Given the description of an element on the screen output the (x, y) to click on. 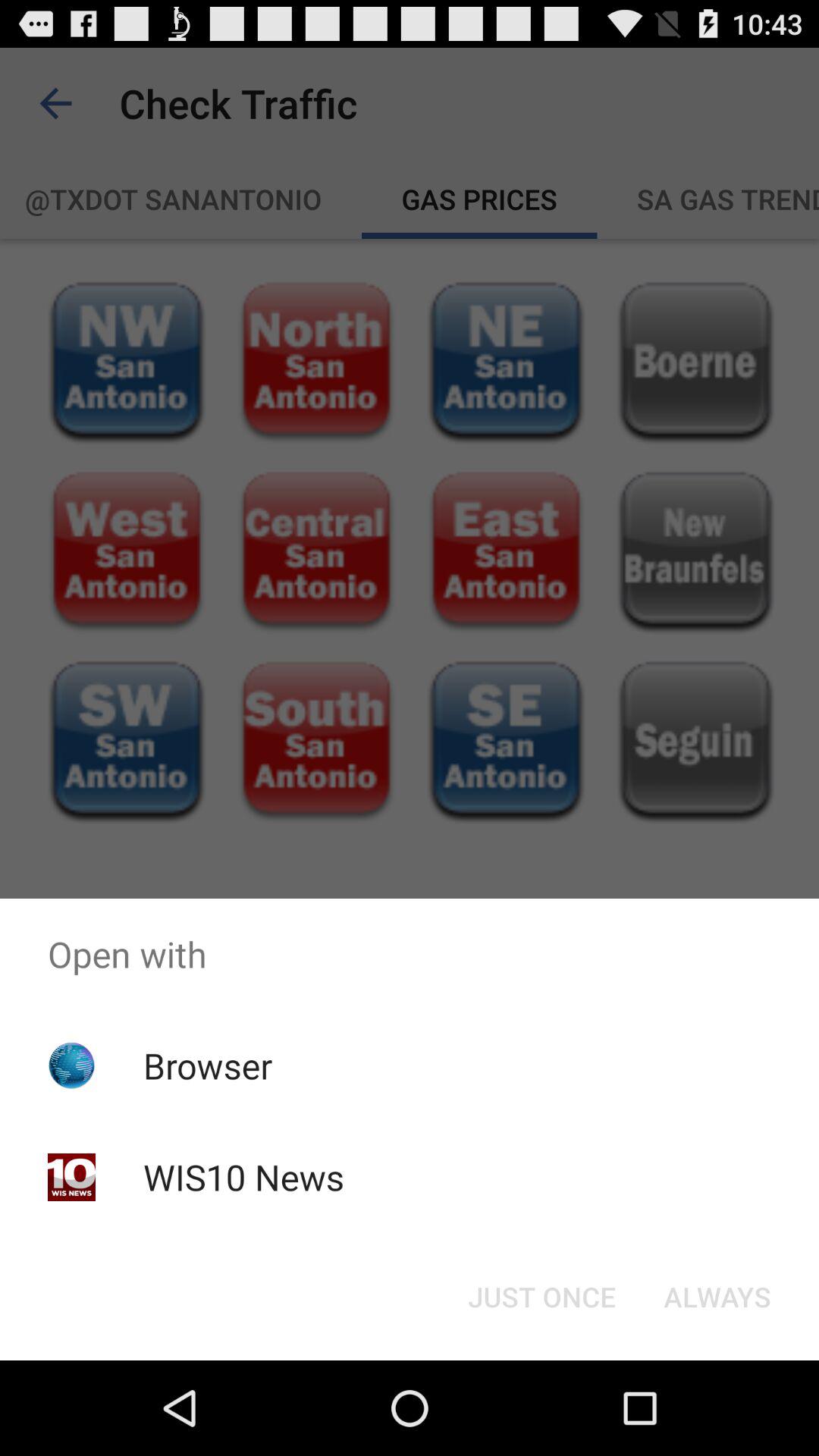
jump until the always (717, 1296)
